Given the description of an element on the screen output the (x, y) to click on. 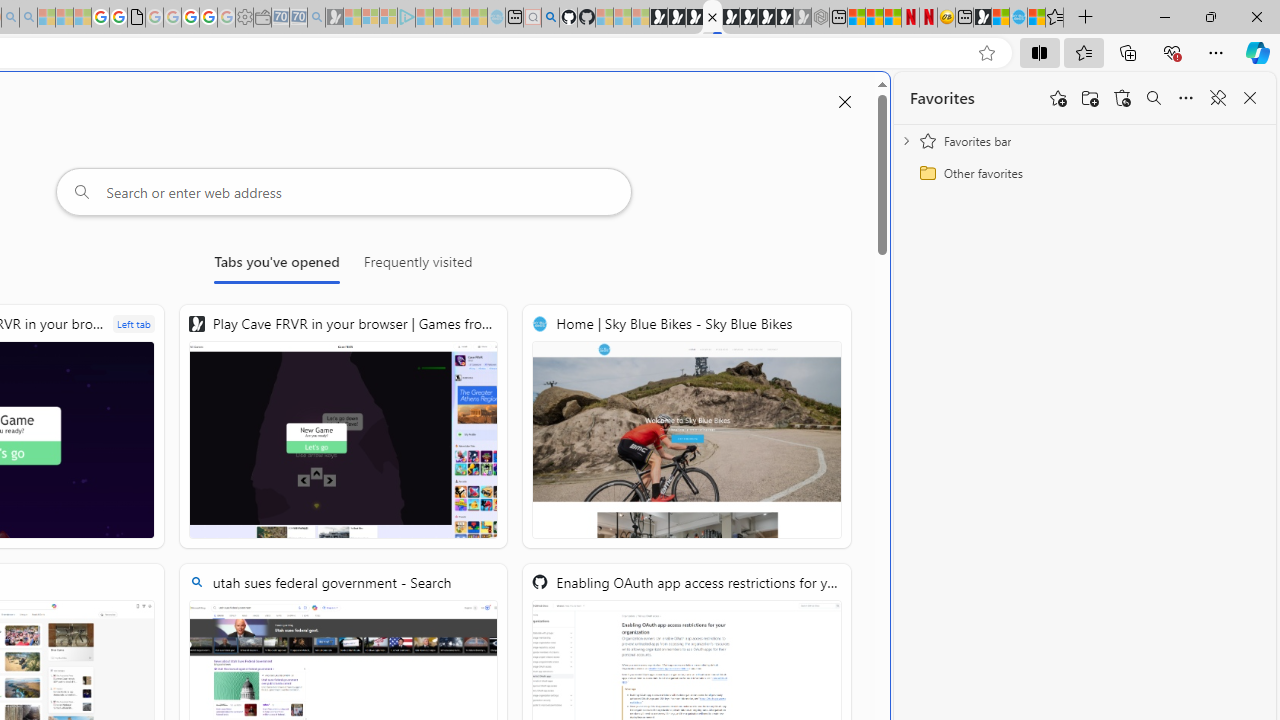
Close favorites (1250, 98)
Unpin favorites (1217, 98)
Add folder (1089, 98)
World - MSN (1000, 17)
